Given the description of an element on the screen output the (x, y) to click on. 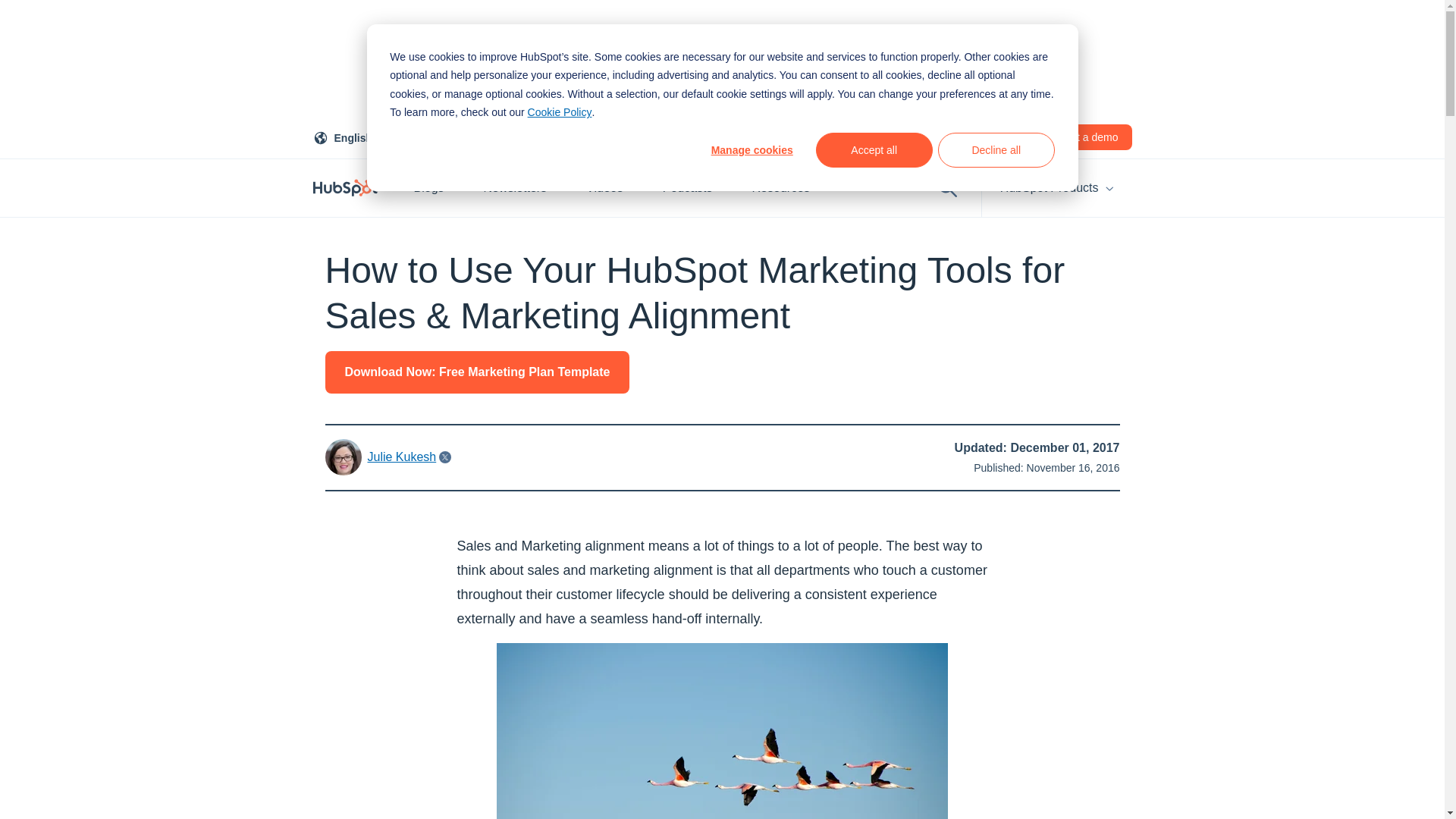
Newsletters (523, 187)
Start free or get a demo (1062, 136)
Blogs (436, 187)
High Contrast (450, 137)
Log in (353, 136)
